Given the description of an element on the screen output the (x, y) to click on. 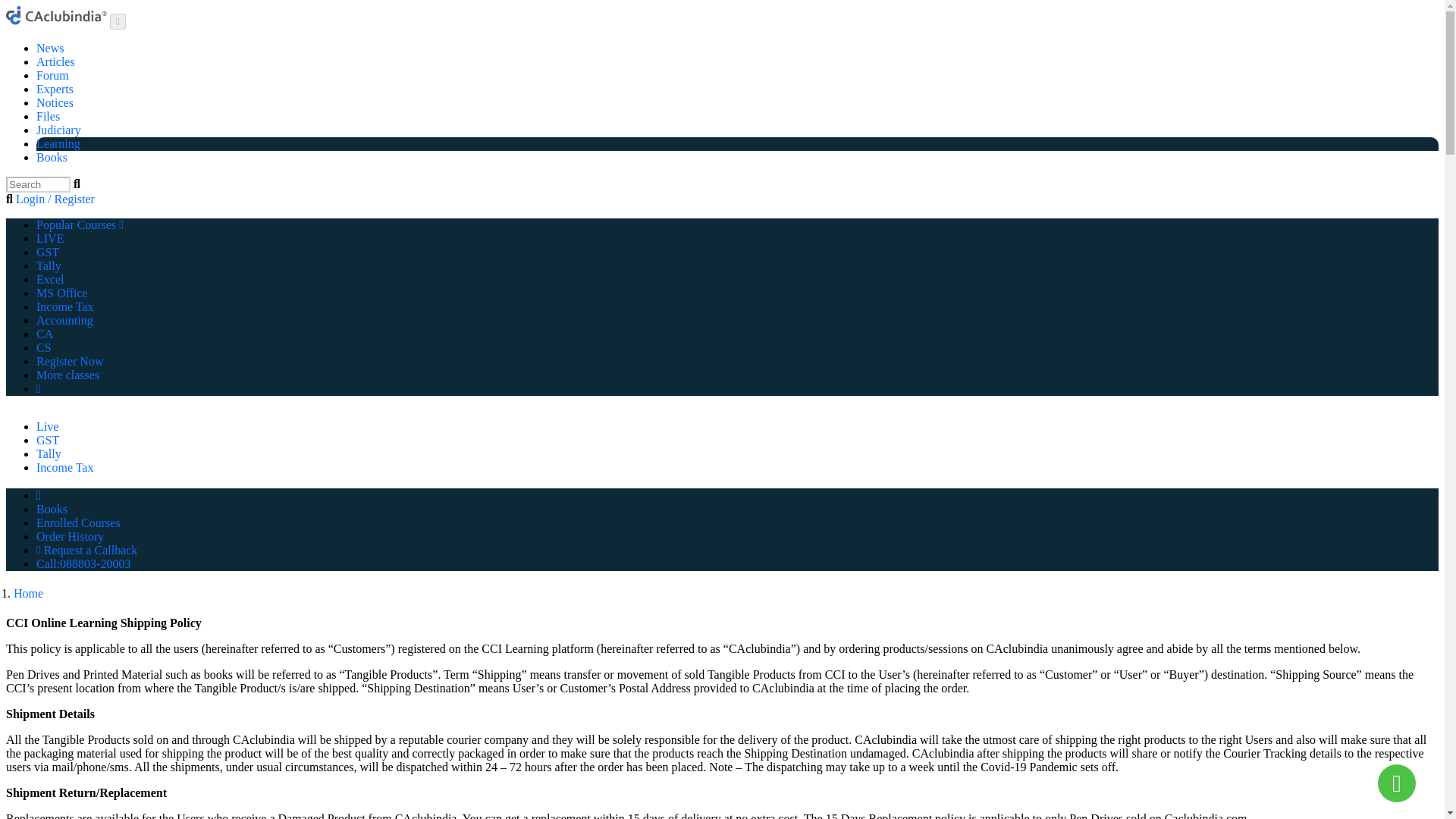
Excel (50, 278)
GST (47, 251)
Notices (55, 102)
News (50, 47)
Tally (48, 265)
More classes (67, 374)
Popular Courses (79, 224)
CS (43, 347)
Files (47, 115)
Income Tax (64, 306)
